Given the description of an element on the screen output the (x, y) to click on. 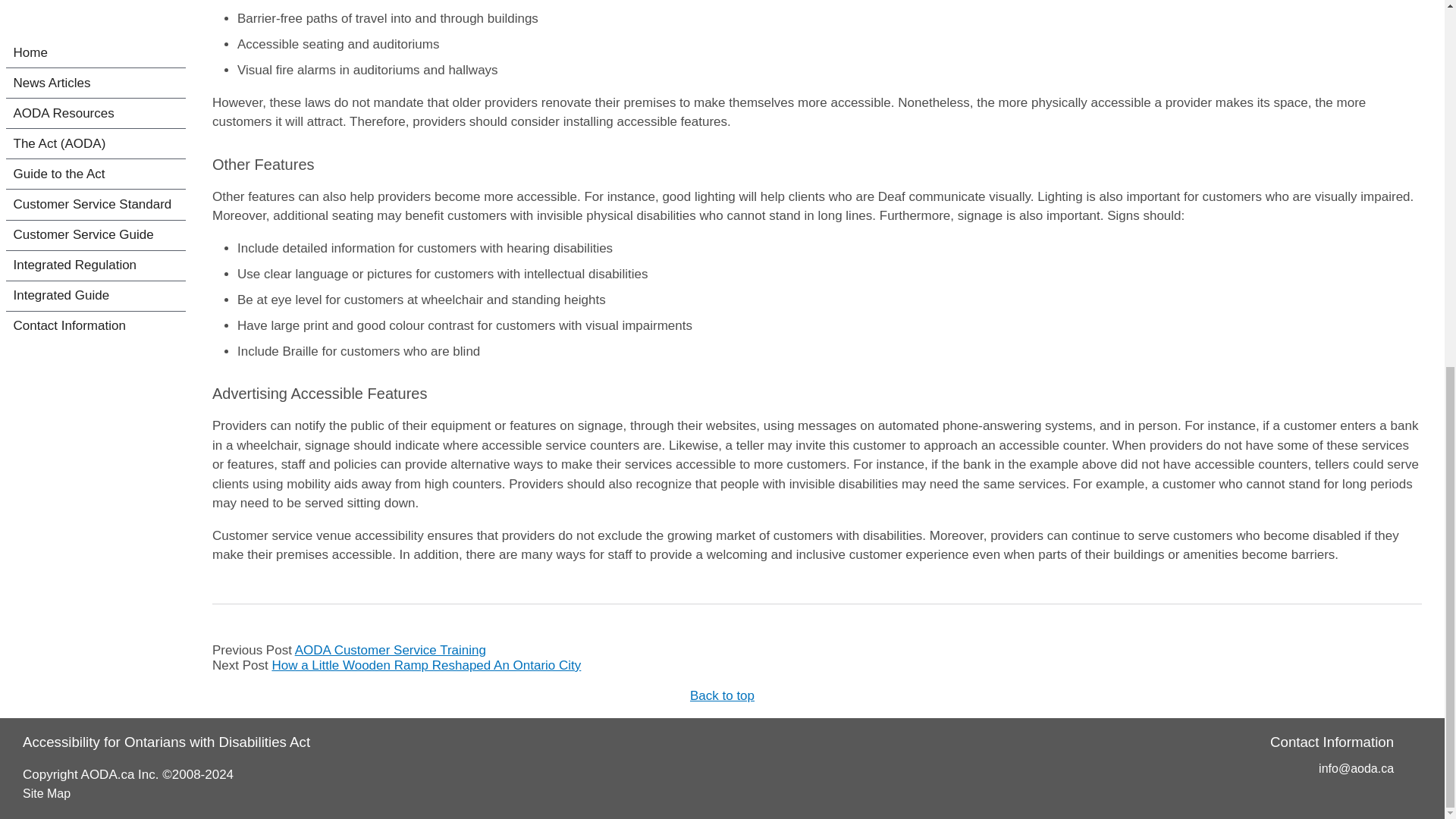
AODA Customer Service Training (390, 649)
Site Map (46, 793)
Back to top (722, 695)
How a Little Wooden Ramp Reshaped An Ontario City (425, 665)
